Given the description of an element on the screen output the (x, y) to click on. 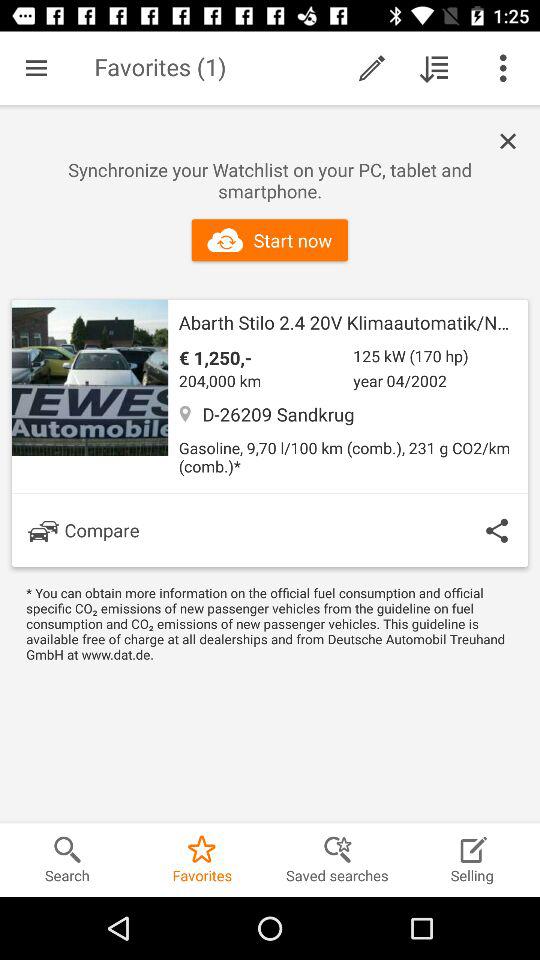
select item below the synchronize your watchlist (269, 240)
